Given the description of an element on the screen output the (x, y) to click on. 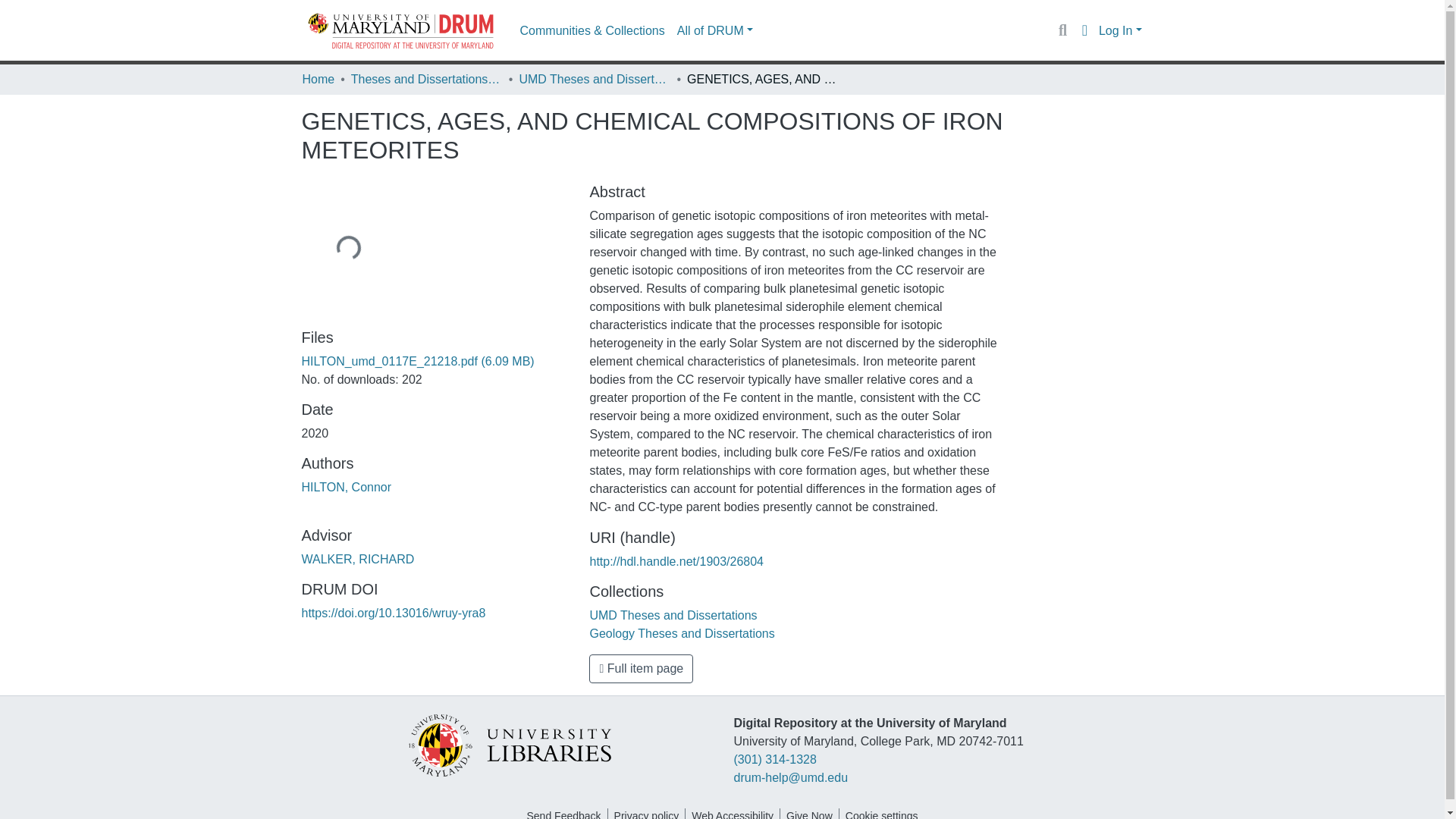
Privacy policy (646, 813)
All of DRUM (714, 30)
Search (1061, 30)
Cookie settings (882, 813)
Give Now (809, 813)
Web Accessibility (731, 813)
Log In (1119, 30)
Send Feedback (563, 813)
Theses and Dissertations from UMD (426, 79)
Full item page (641, 668)
